Given the description of an element on the screen output the (x, y) to click on. 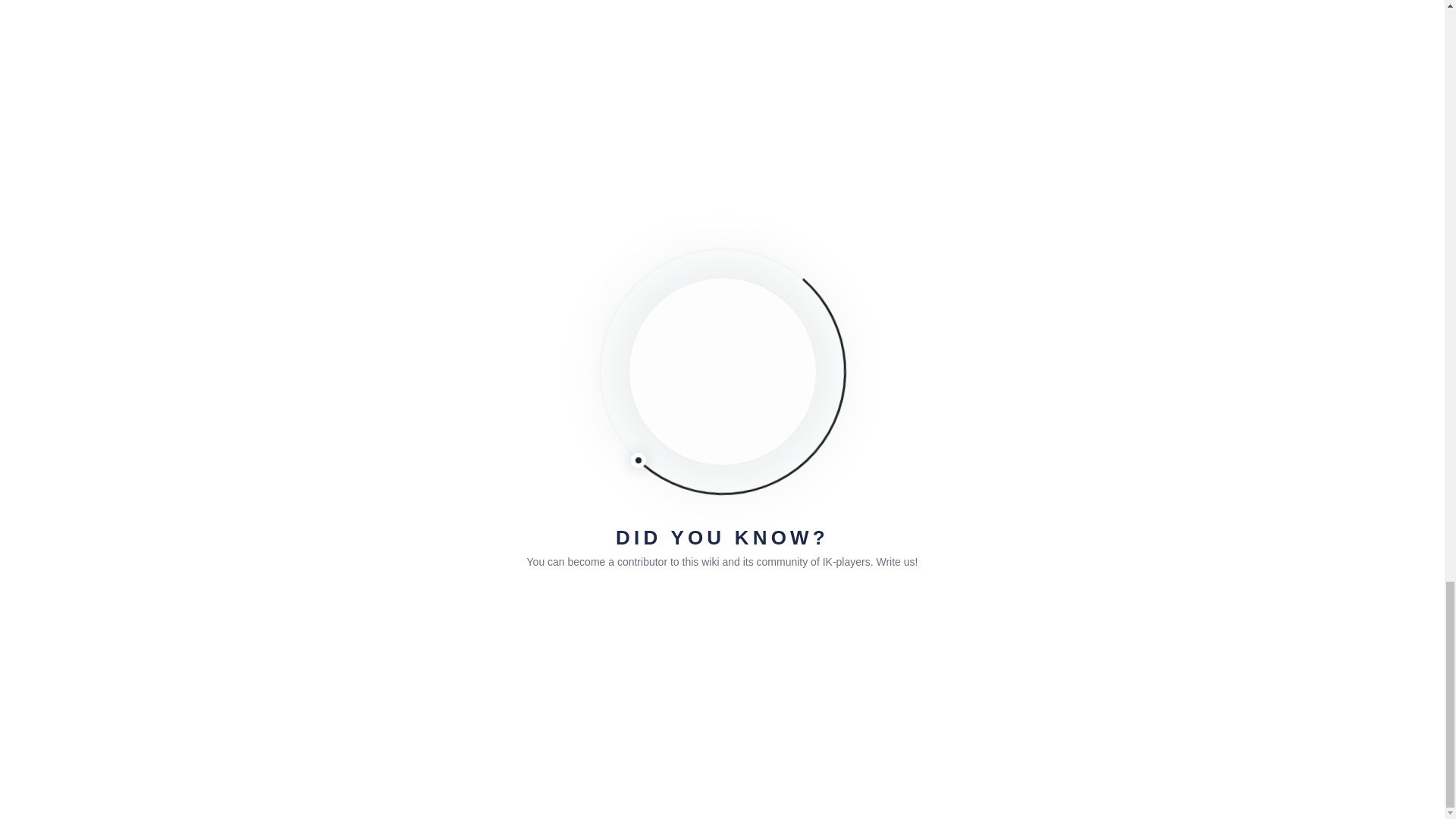
InfoGrafic: Countering Normal Attack Damage (368, 116)
New Artifacts for Immortals Released in Infinity Kingdom (570, 116)
InfoGrafic: Countering Normal Attack Damage (368, 116)
Miscellaneous (594, 85)
1 minute read (713, 85)
VIDEO: Counter normal attack damage (772, 116)
Post Comment (343, 632)
3 minutes read (513, 85)
4 minutes read (311, 85)
New Artifacts for Immortals Released in Infin (570, 116)
